Given the description of an element on the screen output the (x, y) to click on. 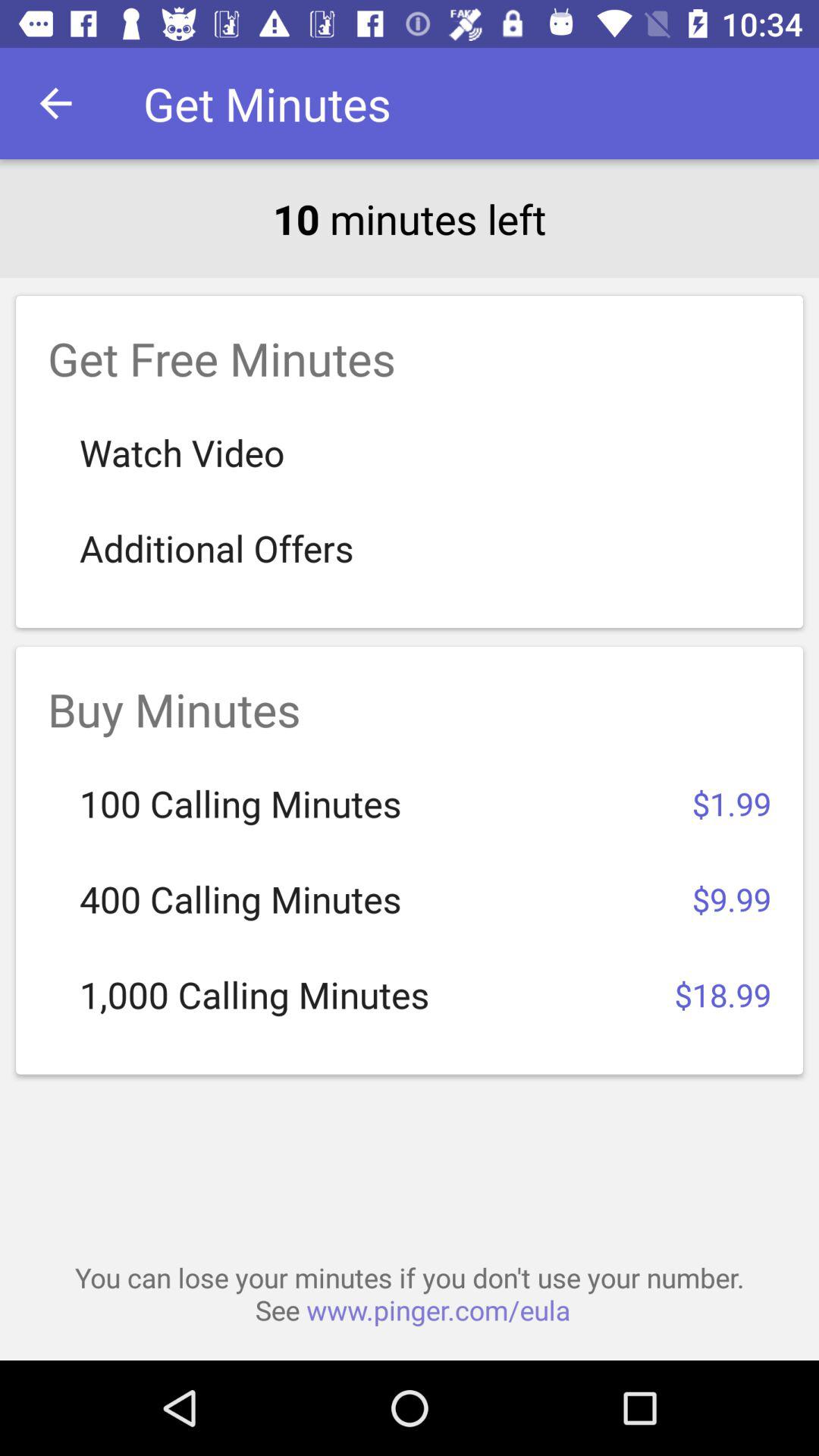
turn on item above 10 minutes left icon (55, 103)
